Given the description of an element on the screen output the (x, y) to click on. 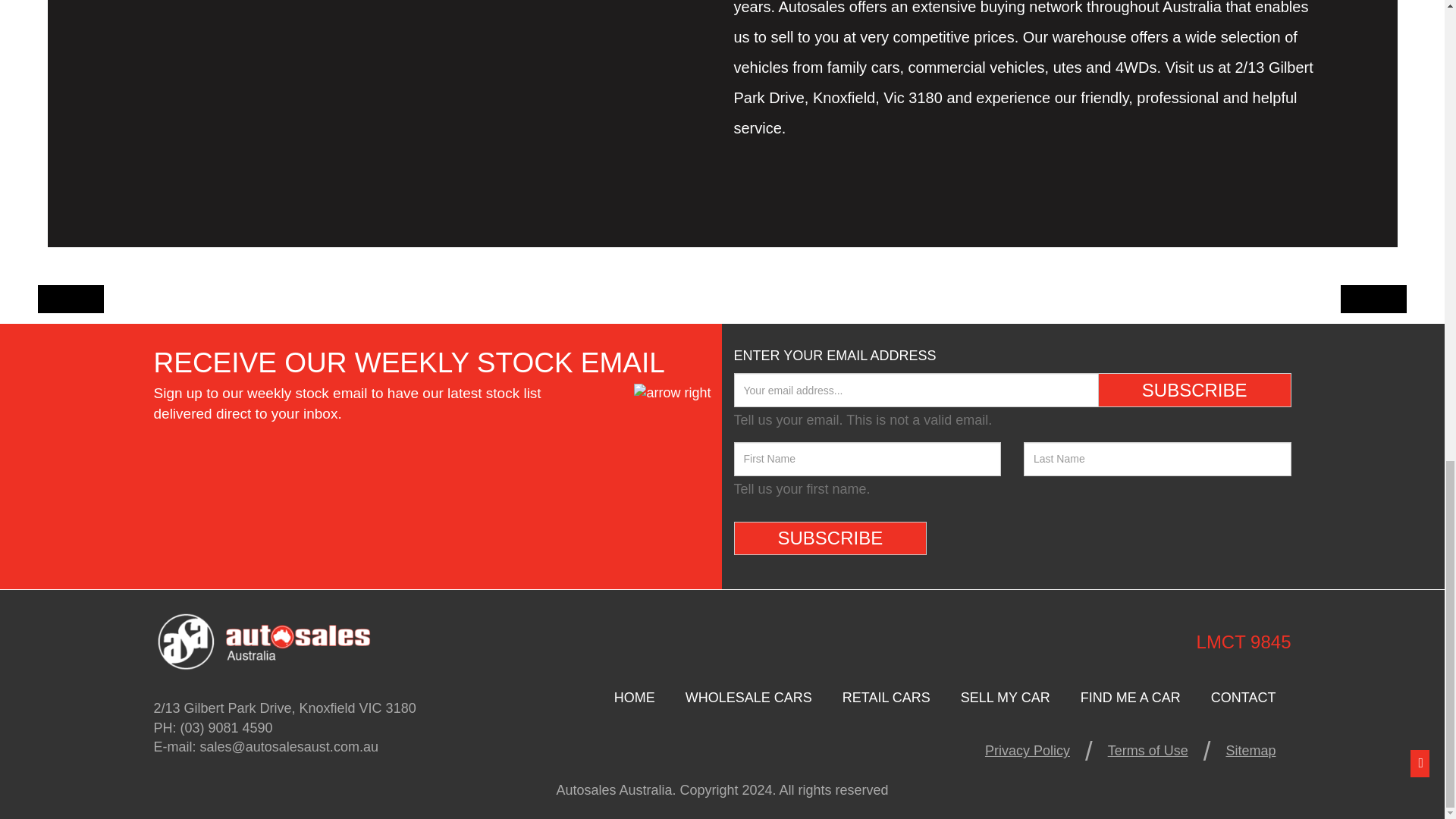
Terms of Use (1148, 750)
WHOLESALE CARS (748, 697)
CONTACT (1243, 697)
FIND ME A CAR (1130, 697)
HOME (633, 697)
SUBSCRIBE (1194, 390)
SUBSCRIBE (830, 538)
Sitemap (1249, 750)
SELL MY CAR (1004, 697)
RETAIL CARS (885, 697)
